Given the description of an element on the screen output the (x, y) to click on. 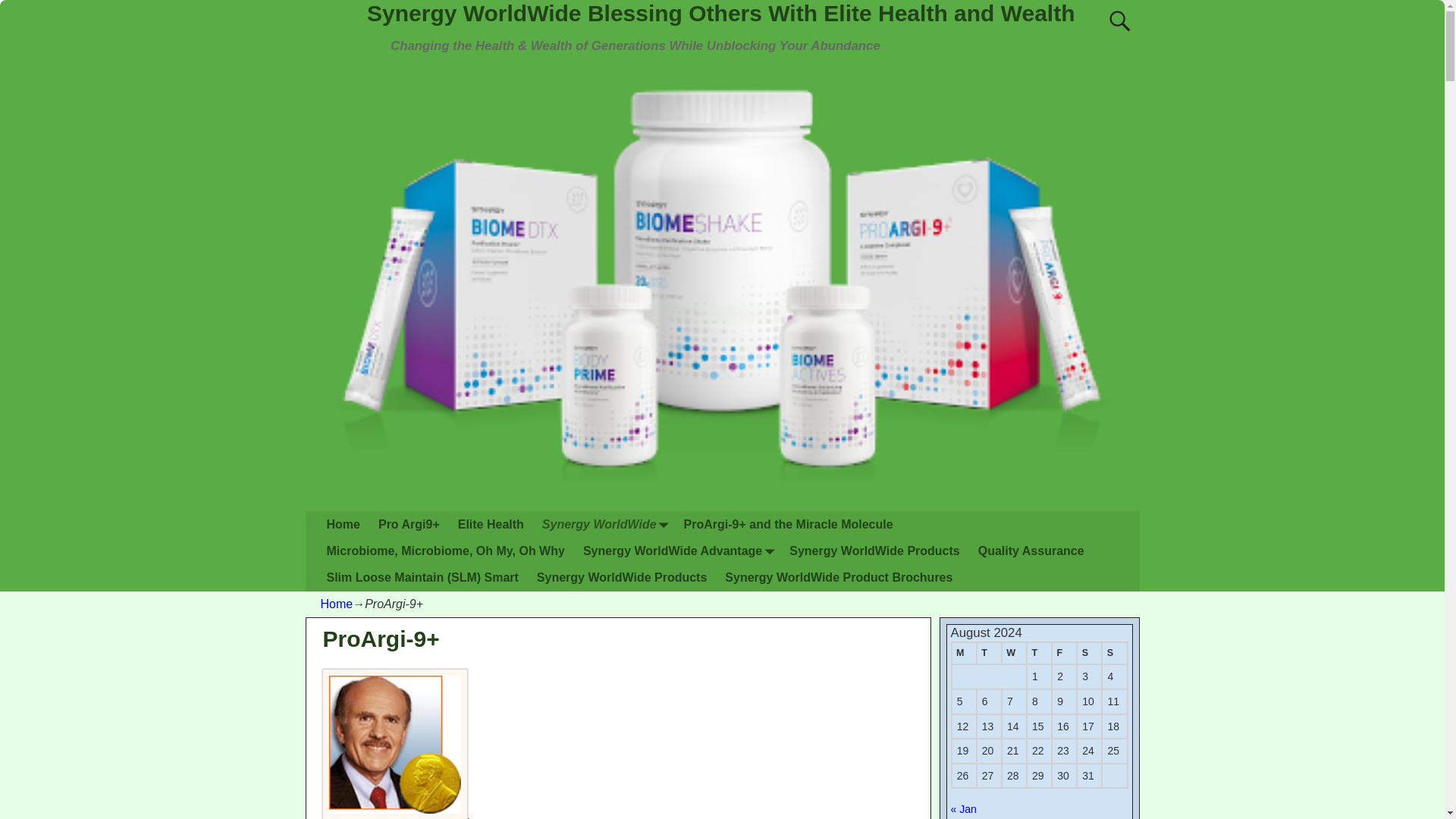
Elite Health (490, 524)
Sunday (1114, 653)
Microbiome, Microbiome, Oh My, Oh Why (445, 550)
Tuesday (988, 653)
Saturday (1089, 653)
Home (336, 603)
Synergy WorldWide Product Brochures (838, 578)
Wednesday (1013, 653)
Thursday (1038, 653)
Synergy WorldWide Products (874, 550)
Synergy WorldWide Advantage (676, 550)
Synergy WorldWide Products (621, 578)
Home (342, 524)
Friday (1064, 653)
